Given the description of an element on the screen output the (x, y) to click on. 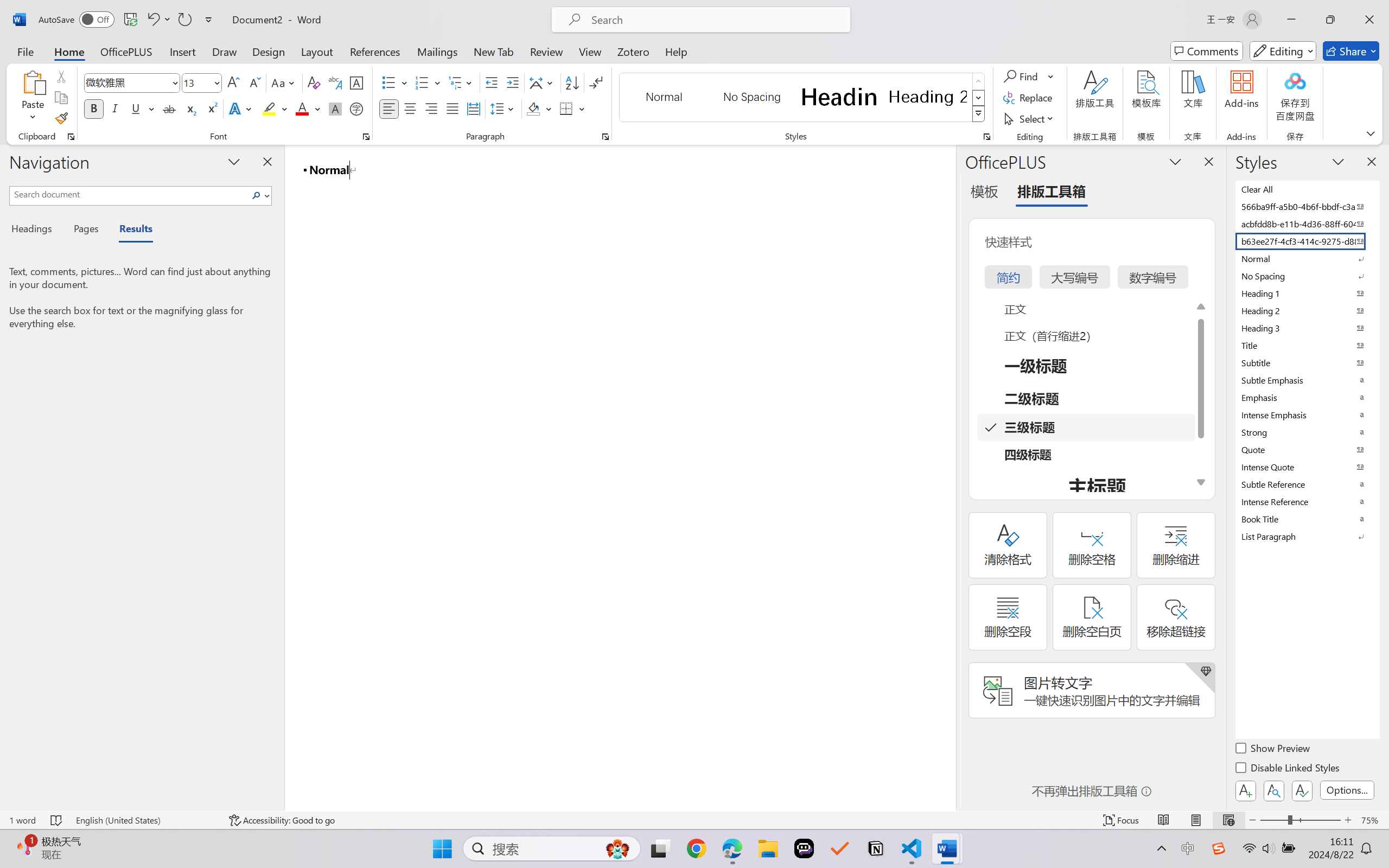
File Tab (24, 51)
Strikethrough (169, 108)
Copy (60, 97)
Text Highlight Color Yellow (269, 108)
Bold (94, 108)
Draw (224, 51)
Subscript (190, 108)
Change Case (284, 82)
Search (256, 195)
Asian Layout (542, 82)
Clear Formatting (313, 82)
Cut (60, 75)
